Given the description of an element on the screen output the (x, y) to click on. 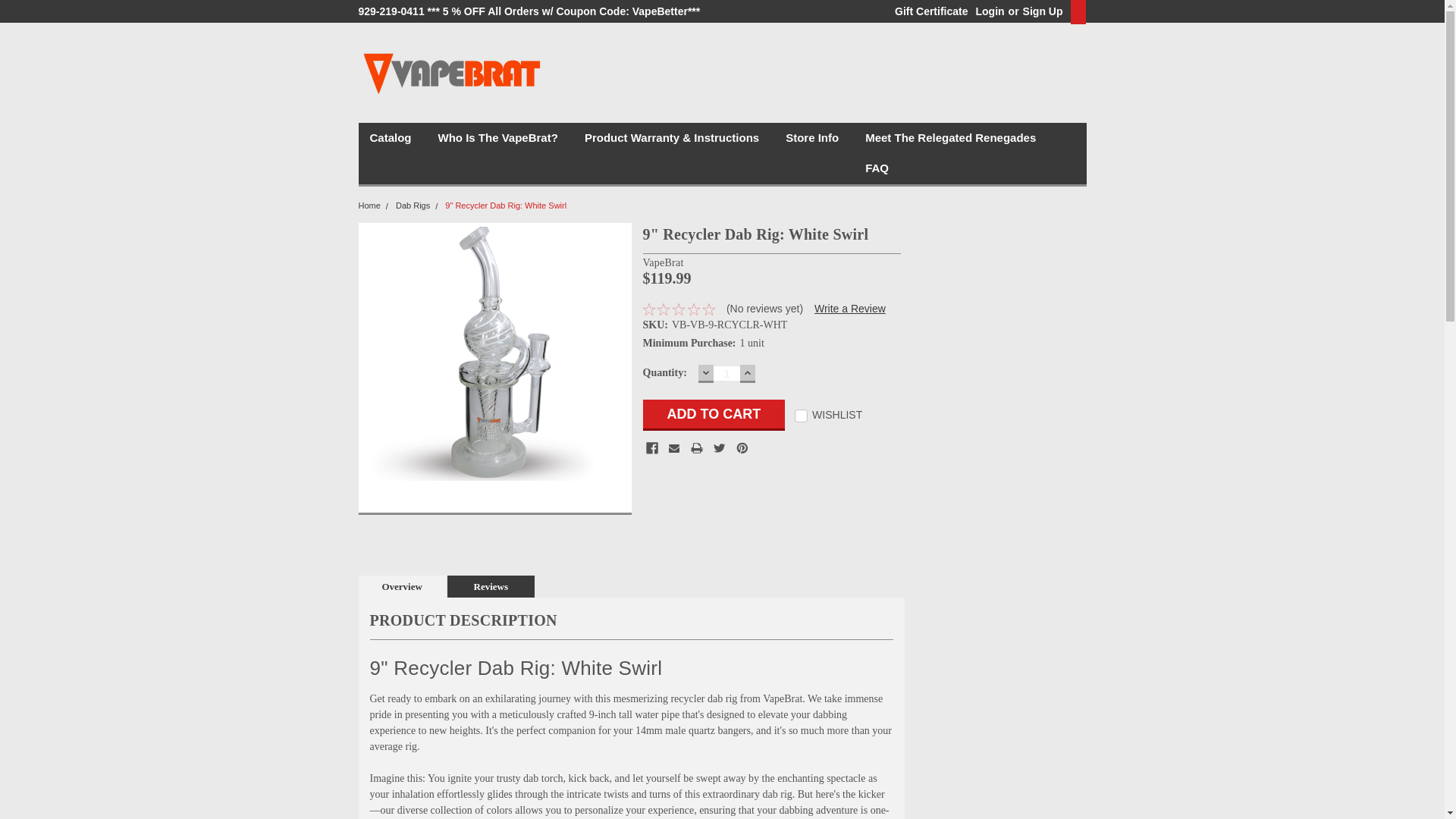
1 (726, 373)
9" Recycler Dab Rig: White Swirl (488, 352)
Login (989, 11)
Gift Certificate (927, 11)
Sign Up (1040, 11)
VapeBrat.com (452, 73)
Add to Cart (714, 414)
